Given the description of an element on the screen output the (x, y) to click on. 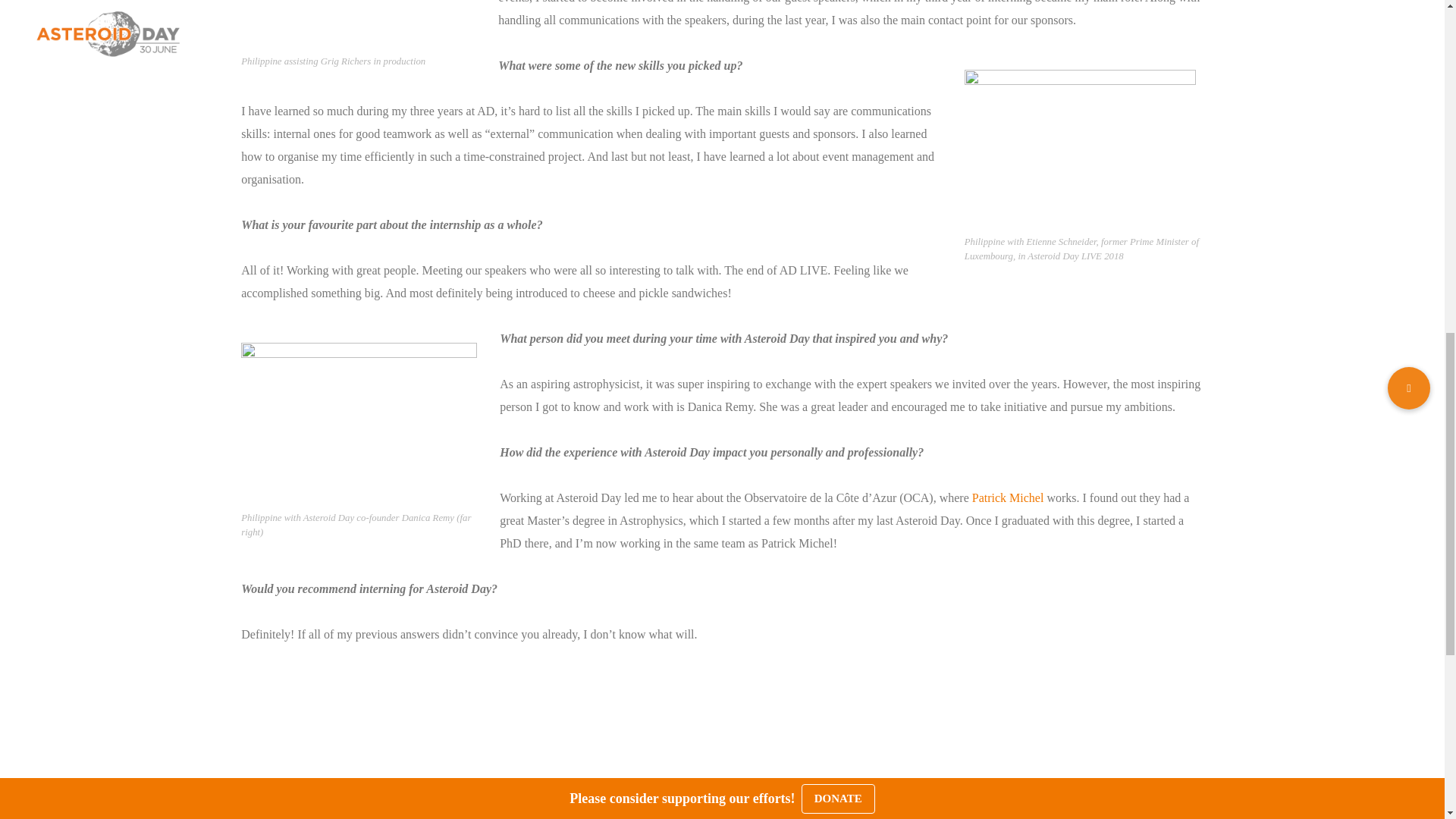
Patrick Michel (1007, 497)
